Given the description of an element on the screen output the (x, y) to click on. 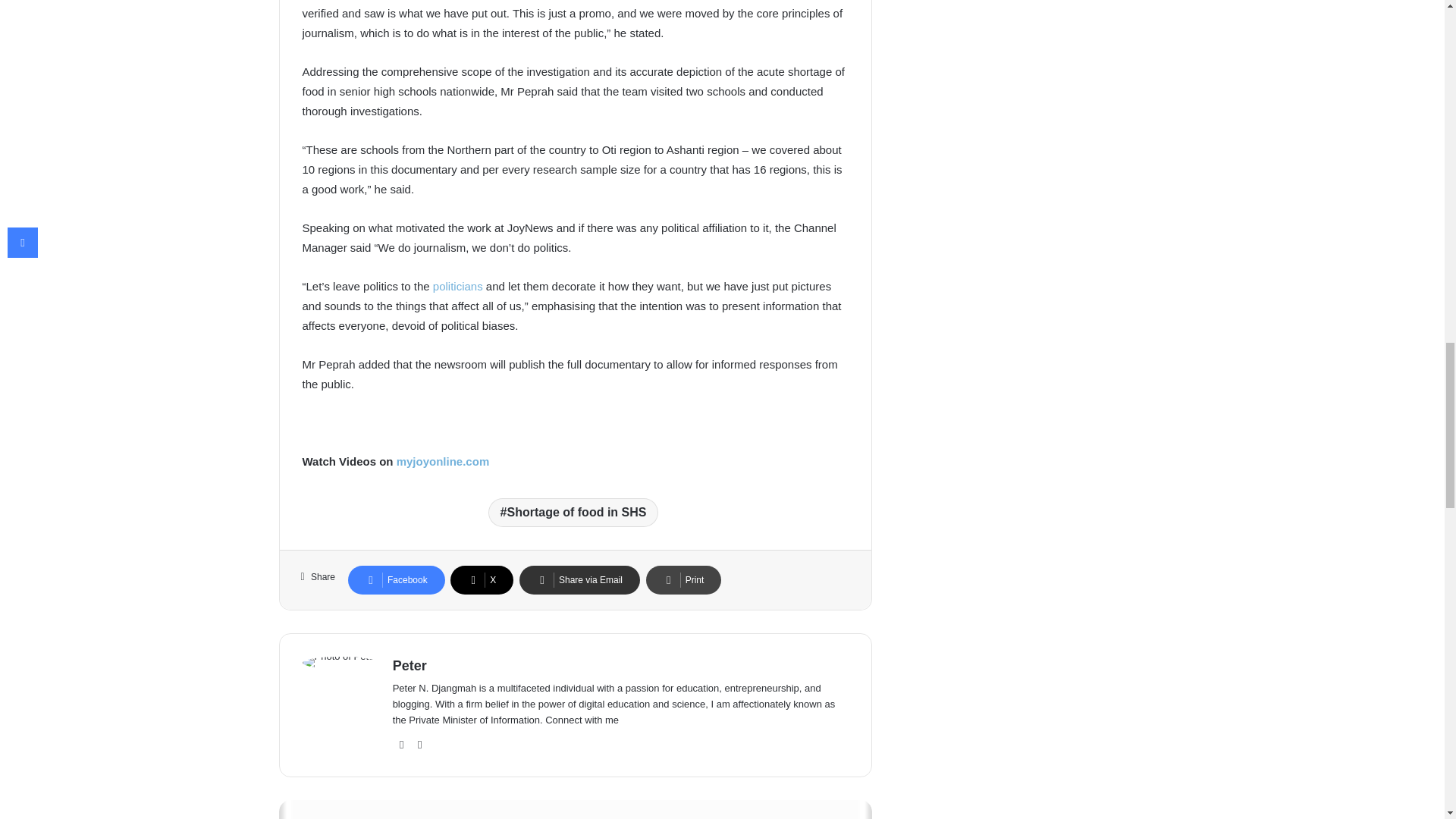
Share via Email (579, 579)
Facebook (396, 579)
X (481, 579)
